Given the description of an element on the screen output the (x, y) to click on. 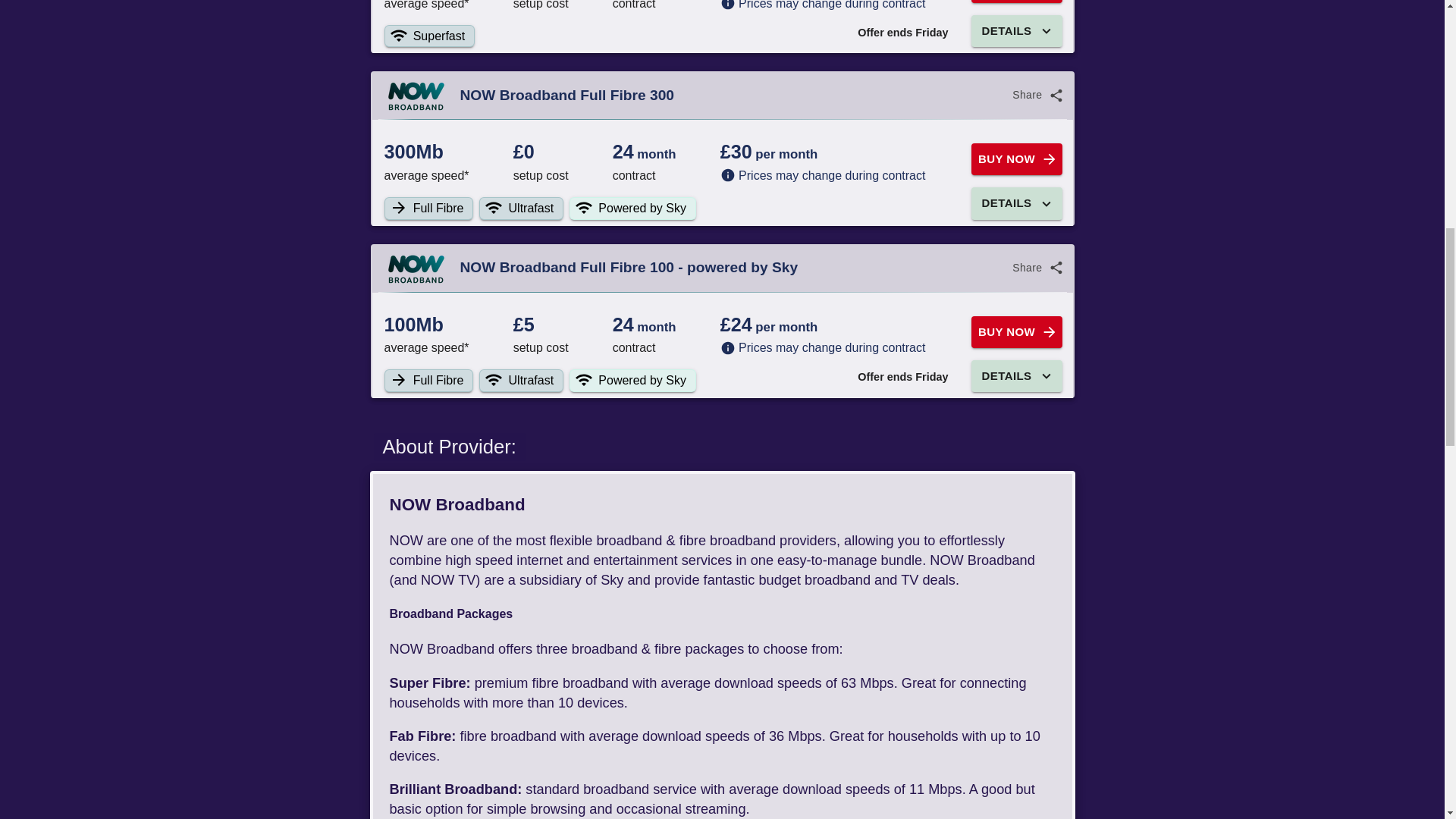
BUY NOW (1016, 159)
DETAILS (1016, 30)
BUY NOW (1016, 1)
Share (1035, 94)
BUY NOW (1016, 332)
Share (1035, 267)
DETAILS (1016, 203)
DETAILS (1016, 376)
